Given the description of an element on the screen output the (x, y) to click on. 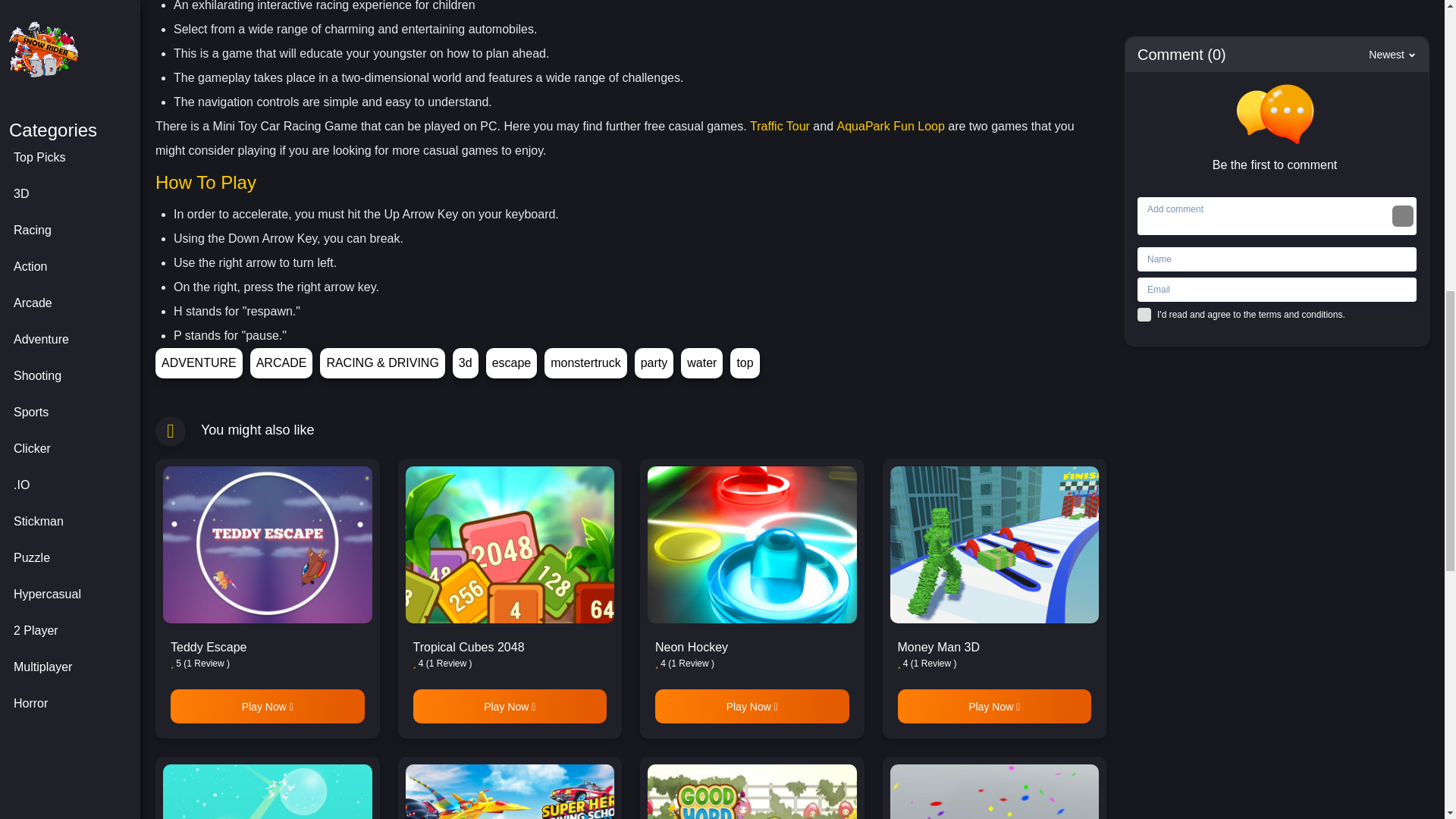
escape (511, 363)
3d (465, 363)
ARCADE (281, 363)
monstertruck (585, 363)
water (701, 363)
water (701, 363)
ADVENTURE (199, 363)
AquaPark Fun Loop (890, 125)
Be the first to comment (1280, 129)
escape (511, 363)
party (654, 363)
3d (465, 363)
Play Now (267, 706)
ARCADE (281, 363)
monstertruck (585, 363)
